Given the description of an element on the screen output the (x, y) to click on. 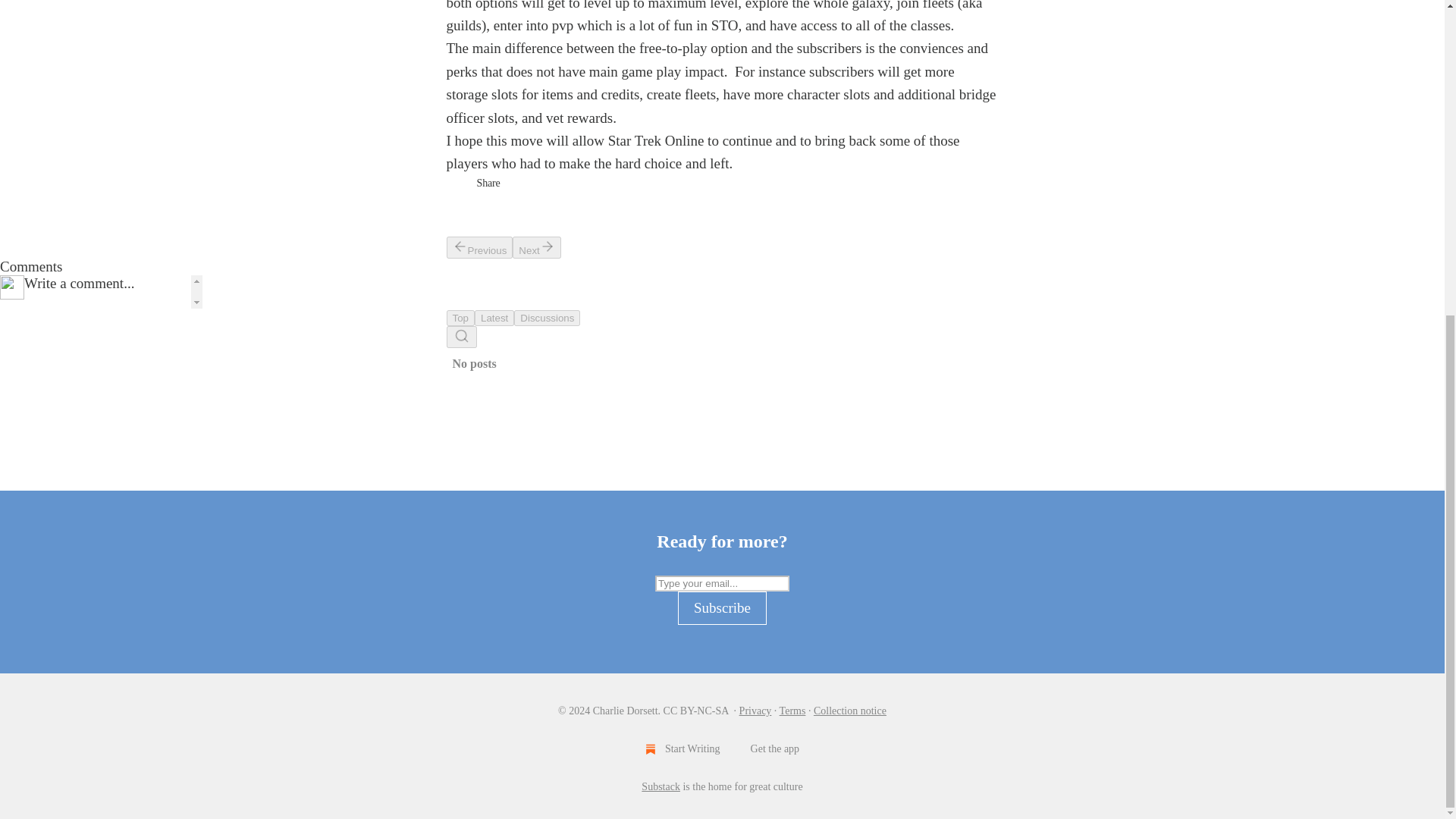
Privacy (755, 710)
Share (487, 183)
Discussions (546, 317)
Top (459, 317)
Subscribe (722, 607)
Terms (792, 710)
Next (536, 247)
Latest (493, 317)
Previous (478, 247)
